Given the description of an element on the screen output the (x, y) to click on. 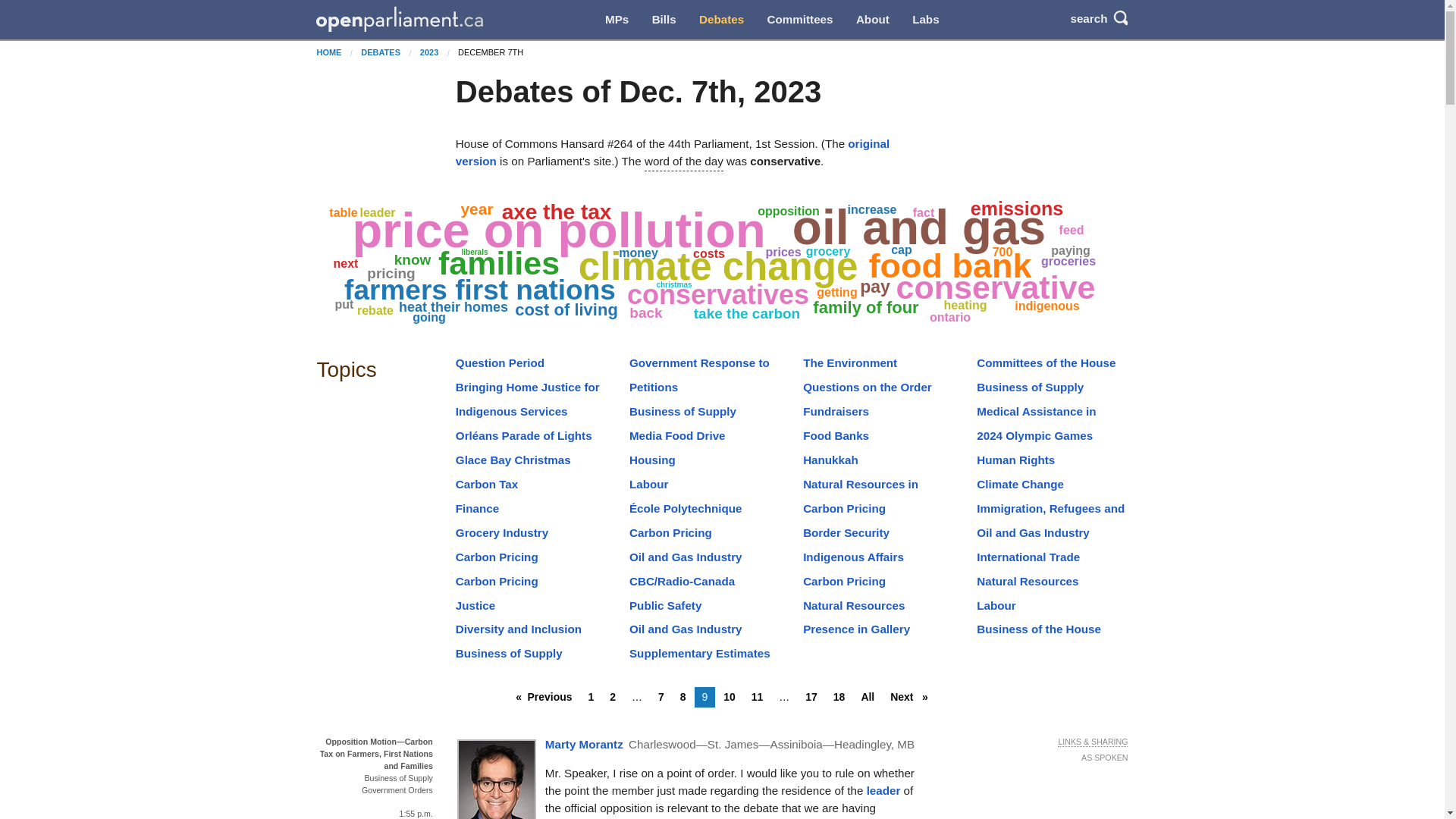
Media Food Drive (676, 435)
MPs (617, 19)
Climate Change (1020, 483)
Business of Supply (1029, 386)
2024 Olympic Games (1034, 435)
Carbon Tax (486, 483)
About (872, 19)
Natural Resources in Alberta (860, 492)
Food Banks (836, 435)
Glace Bay Christmas Parade (512, 468)
Committees (799, 19)
original version (672, 152)
Question Period (499, 362)
Indigenous Services (511, 410)
Government Response to Petitions (699, 371)
